Given the description of an element on the screen output the (x, y) to click on. 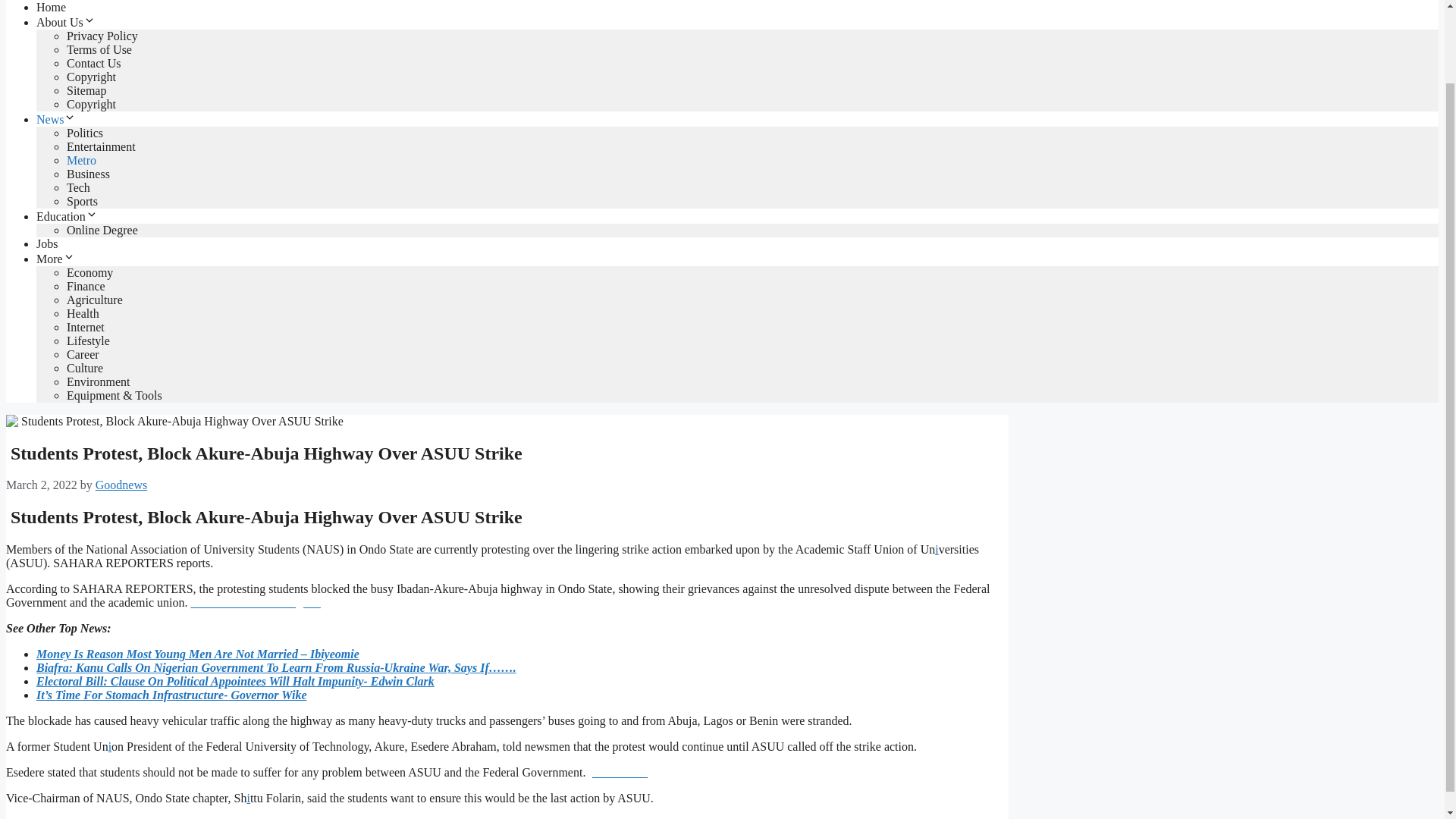
Home (50, 6)
Entertainment (100, 146)
Sports (81, 201)
Copyright (91, 103)
Privacy Policy (102, 35)
Information Guide Nigeria (255, 602)
View all posts by Goodnews (121, 484)
Agriculture (94, 299)
Education (66, 215)
